Given the description of an element on the screen output the (x, y) to click on. 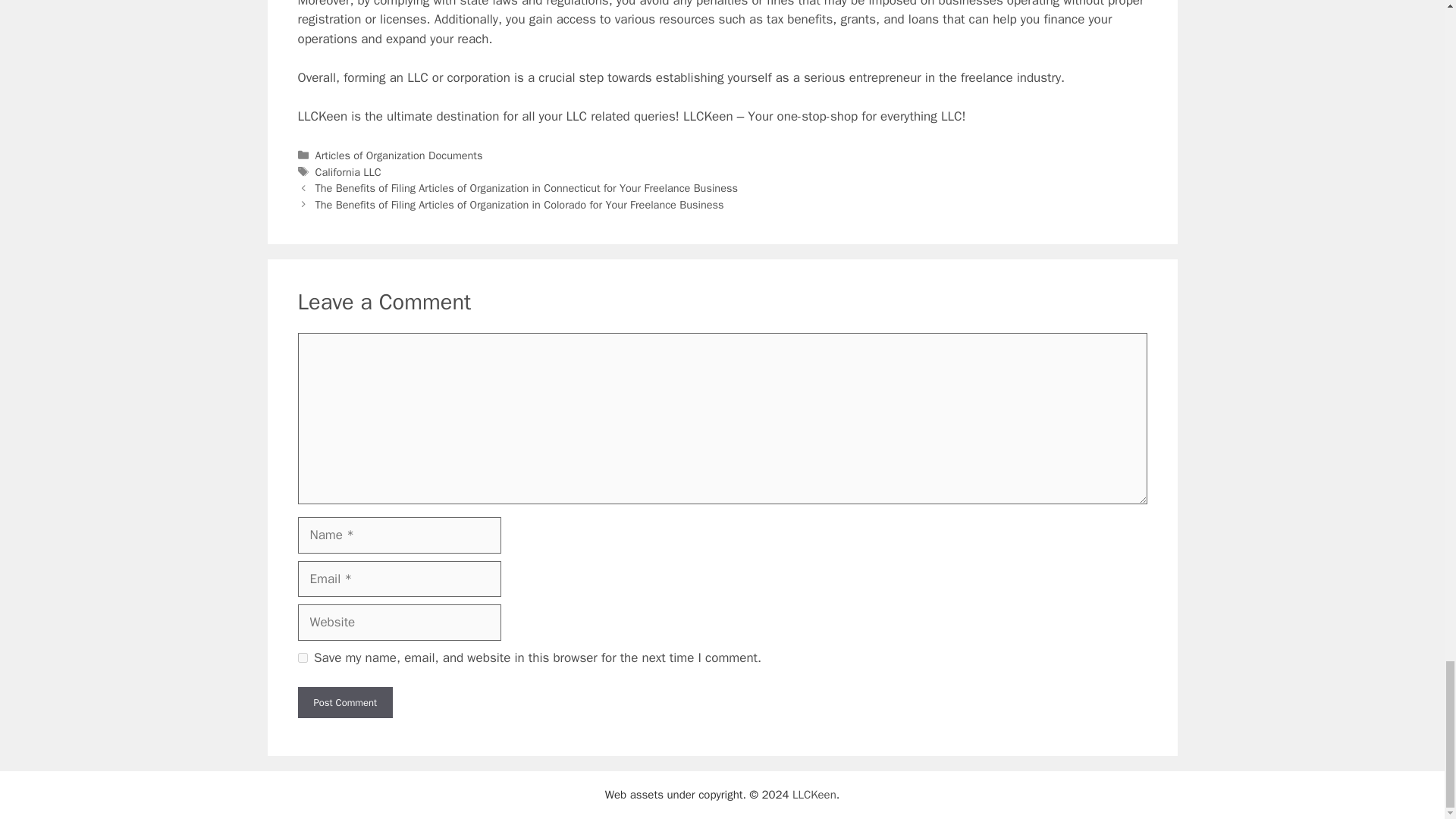
yes (302, 657)
Articles of Organization Documents (399, 155)
The Definitive Guide to Setting Up an LLC in 2023 (417, 77)
Post Comment (345, 703)
Post Comment (345, 703)
California LLC (348, 172)
LLCKeen (322, 116)
LLC (417, 77)
